Given the description of an element on the screen output the (x, y) to click on. 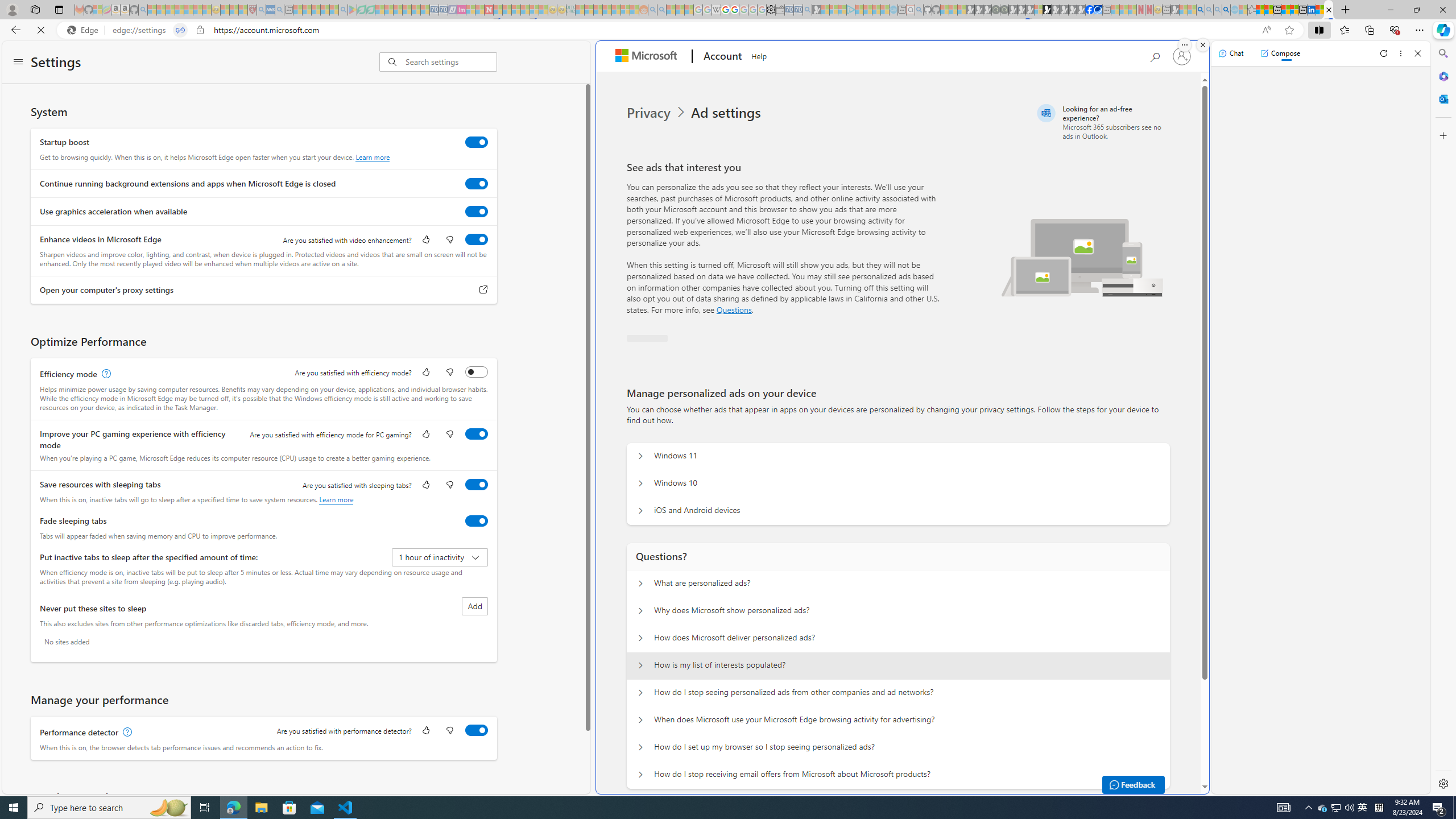
Close Customize pane (1442, 135)
Enhance videos in Microsoft Edge (476, 238)
Search settings (451, 61)
Local - MSN - Sleeping (242, 9)
Robert H. Shmerling, MD - Harvard Health - Sleeping (252, 9)
Utah sues federal government - Search - Sleeping (661, 9)
